Given the description of an element on the screen output the (x, y) to click on. 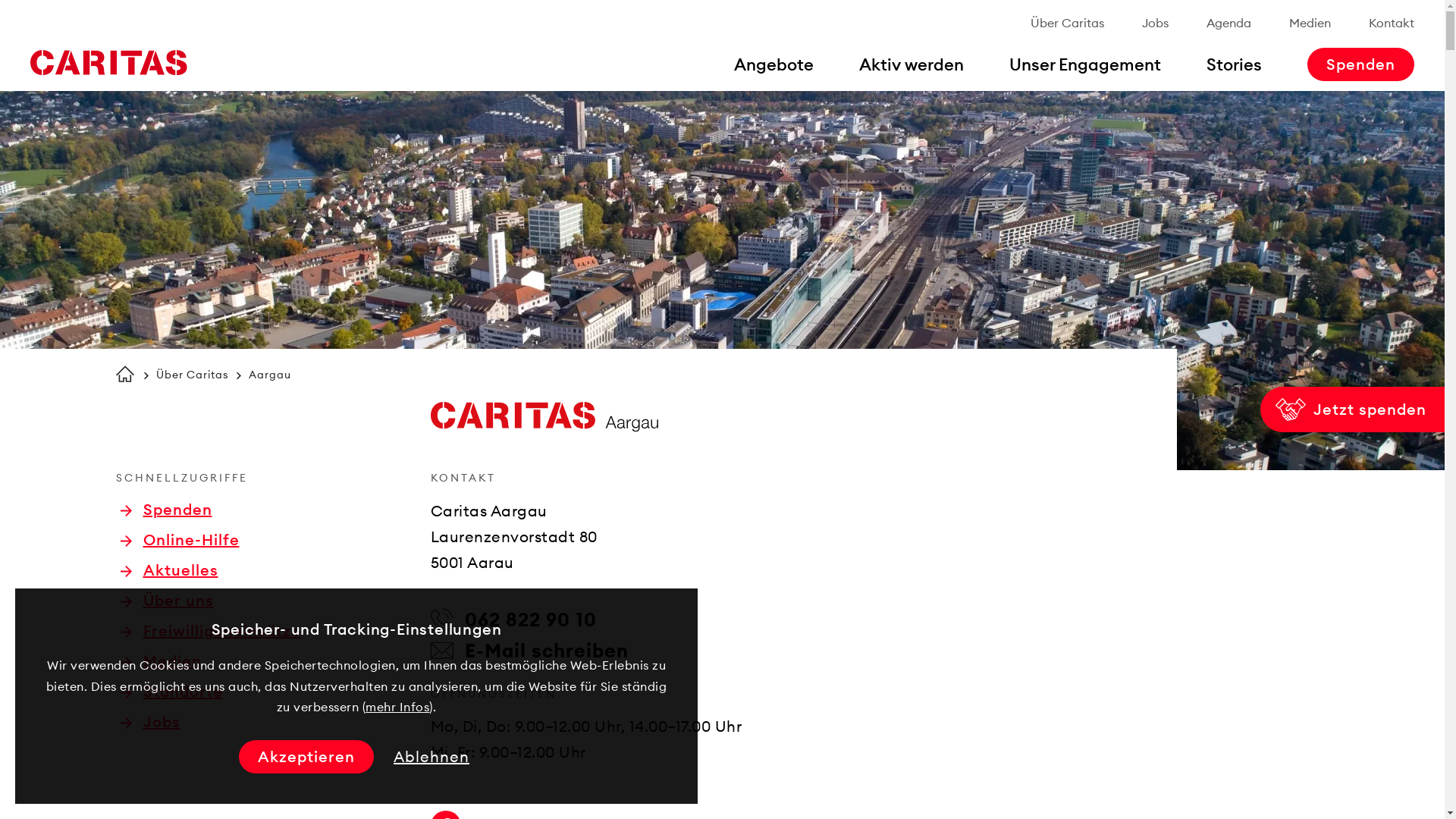
Jobs Element type: text (1155, 22)
Akzeptieren Element type: text (305, 756)
Medien Element type: text (160, 661)
Angebote Element type: text (773, 64)
Startseite Element type: text (124, 373)
Stories Element type: text (1233, 64)
Open sub menu Element type: text (18, 18)
Standorte Element type: text (170, 691)
Jobs Element type: text (149, 721)
Spenden Element type: text (165, 509)
Ablehnen Element type: text (431, 756)
Aktuelles Element type: text (168, 570)
Kontakt Element type: text (1391, 22)
mehr Infos Element type: text (397, 706)
Aktiv werden Element type: text (911, 64)
Online-Hilfe Element type: text (179, 539)
Startseite Element type: text (108, 62)
Unser Engagement Element type: text (1085, 64)
Medien Element type: text (1309, 22)
Agenda Element type: text (1228, 22)
